Given the description of an element on the screen output the (x, y) to click on. 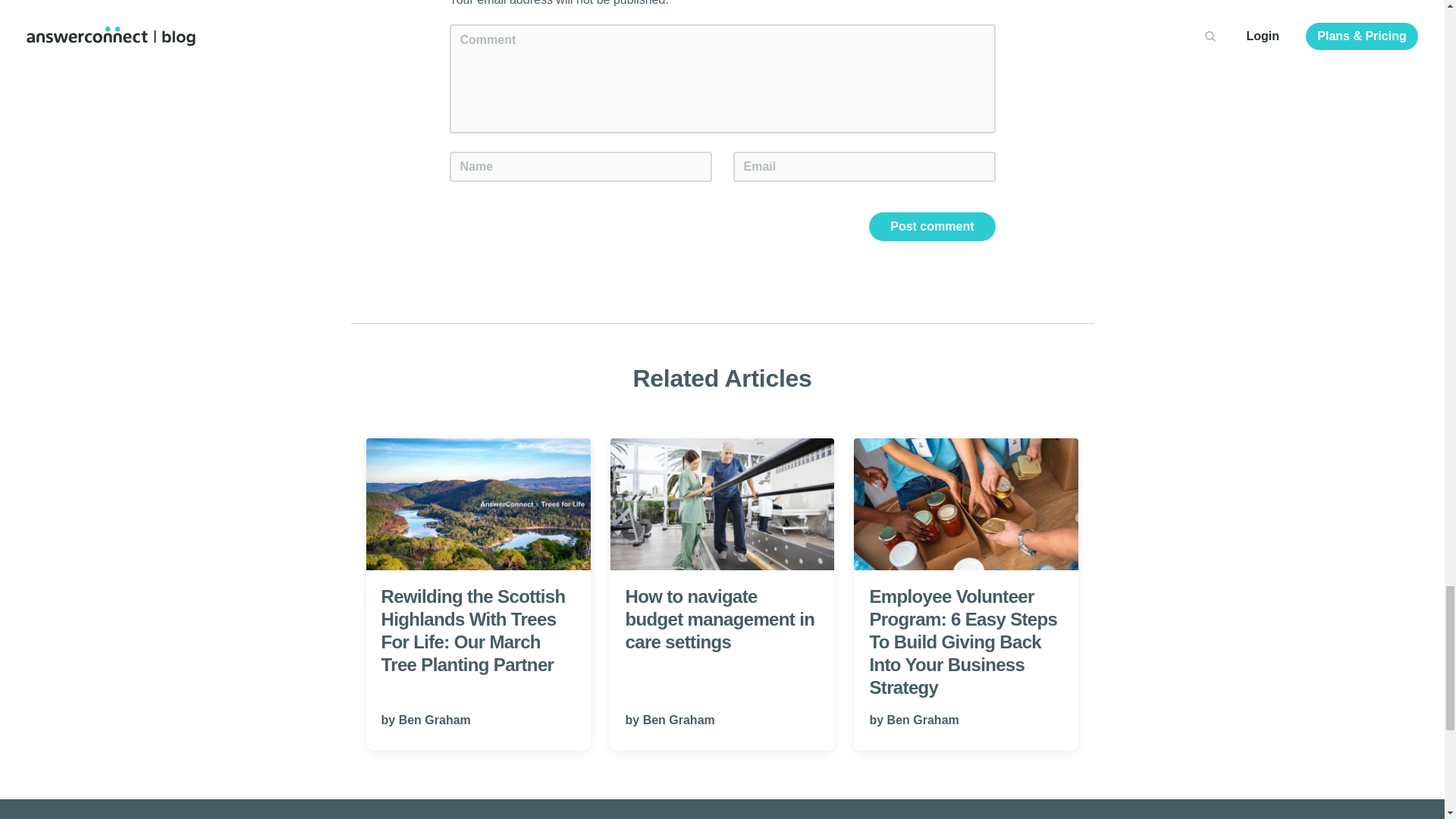
How to navigate budget management in care settings (722, 504)
Ben Graham (678, 719)
Ben Graham (922, 719)
Post comment (931, 226)
Ben Graham (434, 719)
How to navigate budget management in care settings (722, 553)
